Given the description of an element on the screen output the (x, y) to click on. 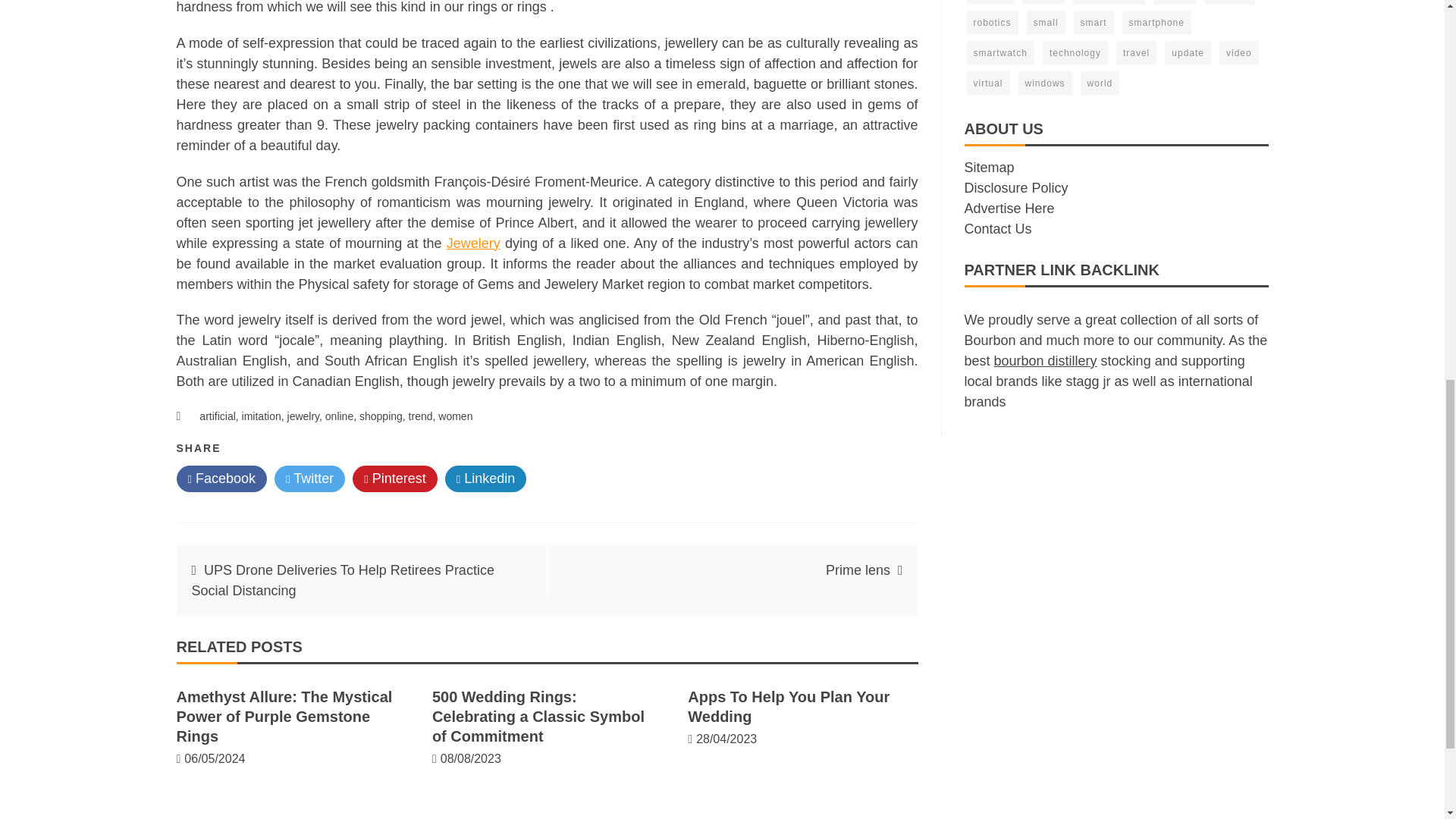
Jewelery (473, 242)
trend (420, 416)
Twitter (310, 479)
Amethyst Allure: The Mystical Power of Purple Gemstone Rings (283, 716)
shopping (381, 416)
women (454, 416)
Apps To Help You Plan Your Wedding (788, 706)
jewelry (303, 416)
Pinterest (395, 479)
imitation (261, 416)
Prime lens (857, 570)
online (338, 416)
Facebook (221, 479)
Linkedin (486, 479)
